Given the description of an element on the screen output the (x, y) to click on. 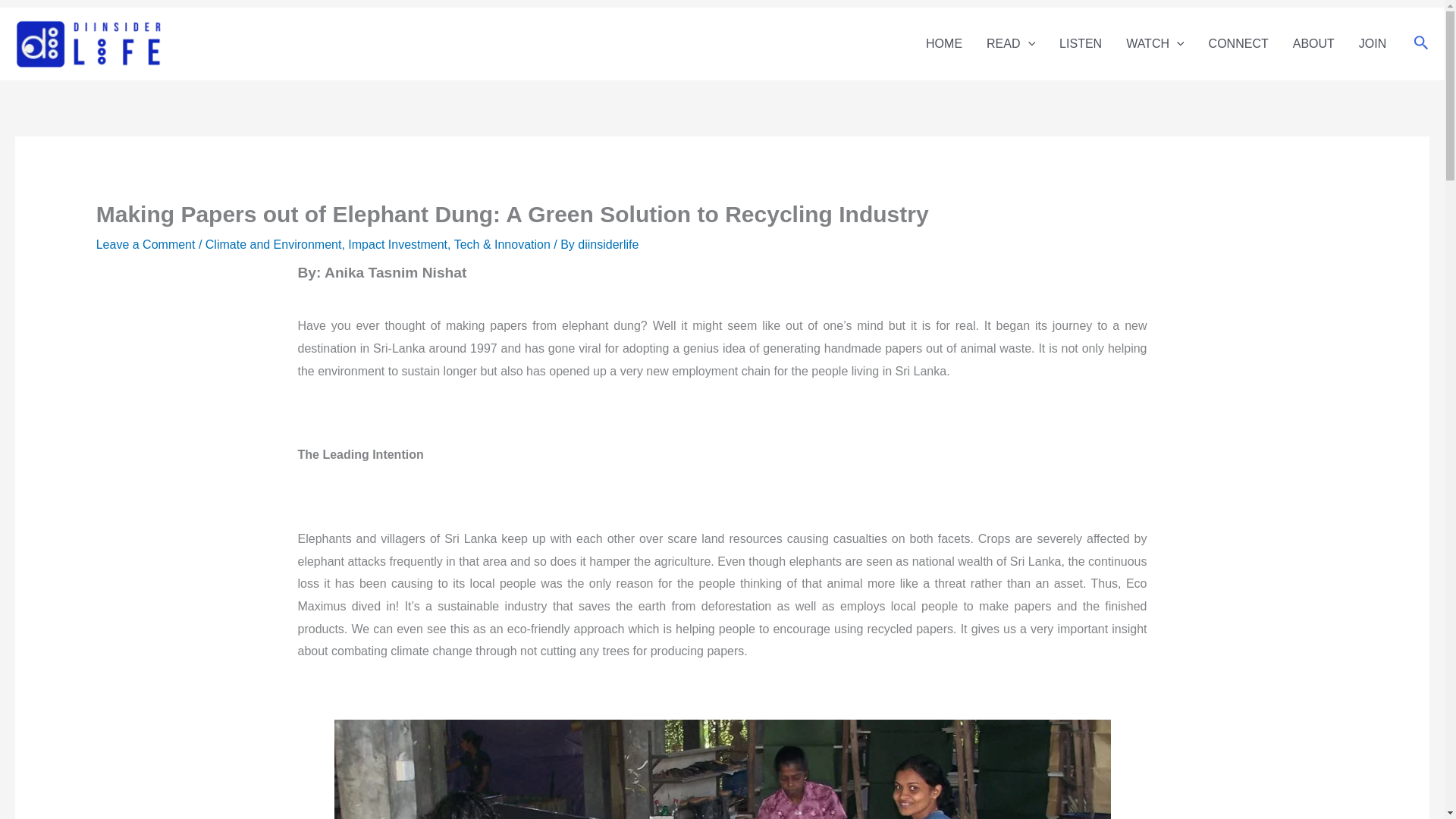
ABOUT (1313, 43)
JOIN (1371, 43)
View all posts by diinsiderlife (608, 244)
CONNECT (1238, 43)
LISTEN (1079, 43)
READ (1010, 43)
HOME (944, 43)
WATCH (1154, 43)
